Given the description of an element on the screen output the (x, y) to click on. 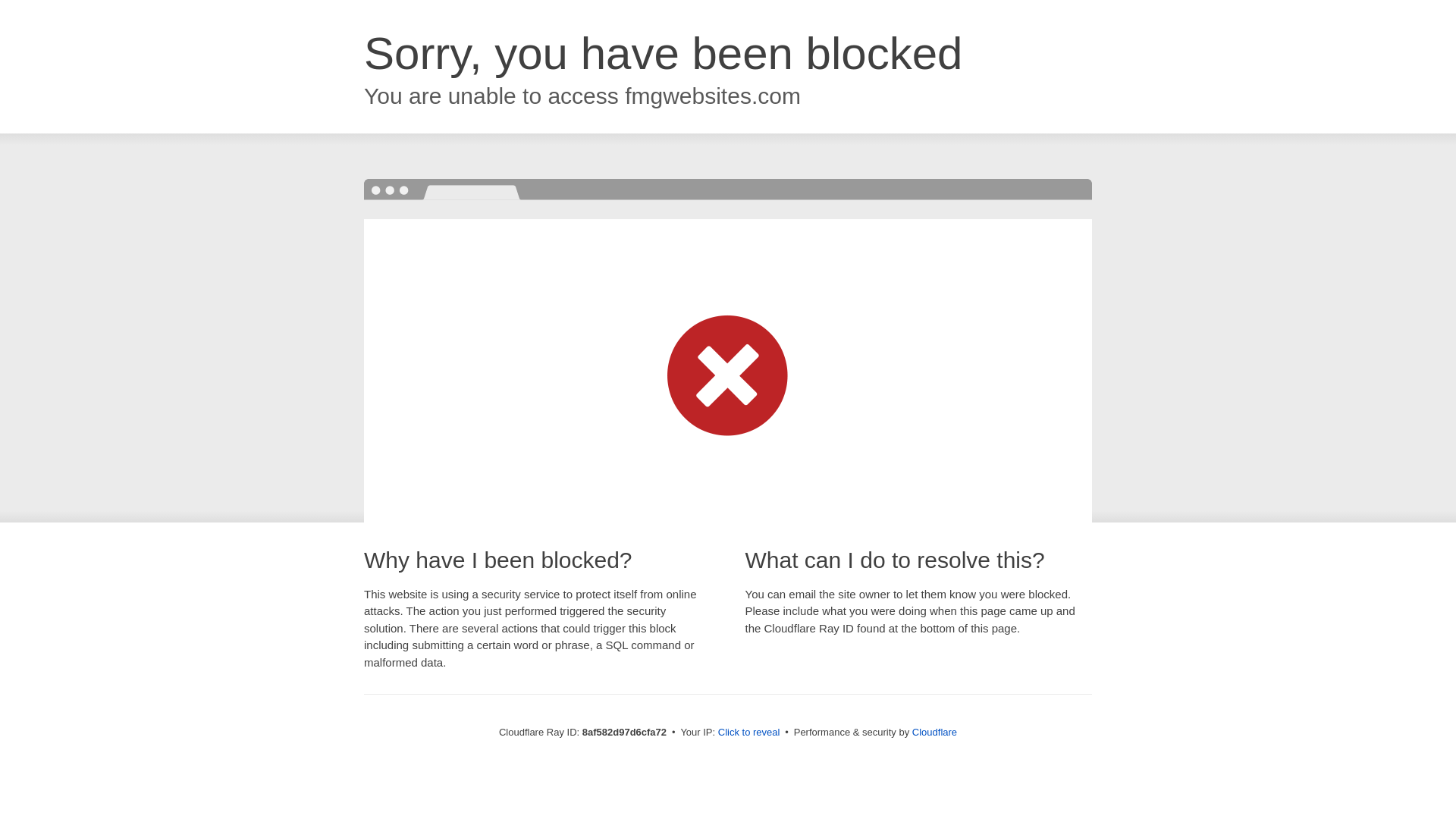
Cloudflare (934, 731)
Click to reveal (748, 732)
